Given the description of an element on the screen output the (x, y) to click on. 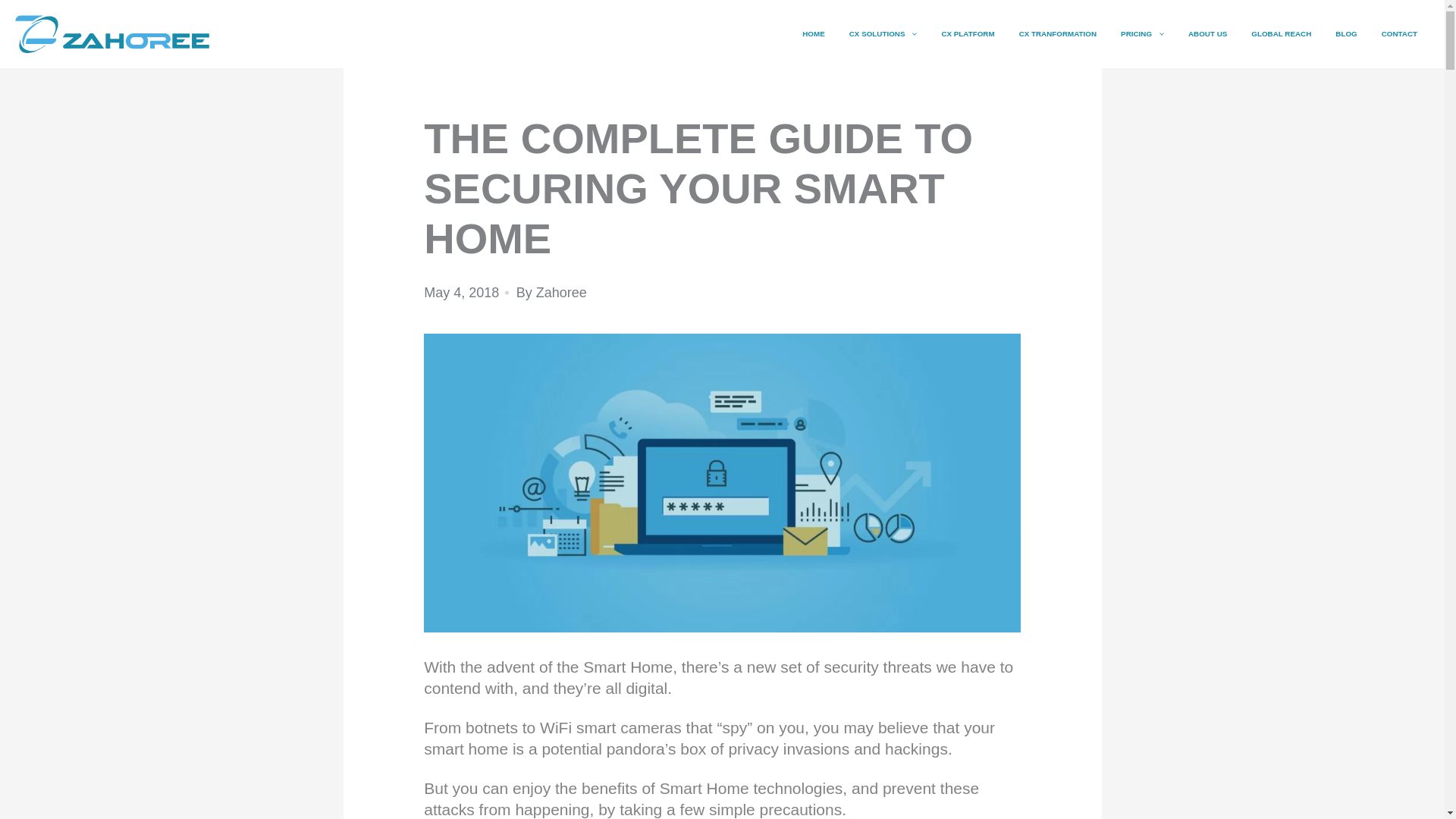
Zahoree (560, 292)
PRICING (1142, 33)
HOME (813, 33)
BLOG (1345, 33)
View all posts by Jose A. Gonzalez (560, 292)
CONTACT (1399, 33)
GLOBAL REACH (1281, 33)
CX SOLUTIONS (883, 33)
ABOUT US (1207, 33)
CX TRANFORMATION (1057, 33)
CX PLATFORM (967, 33)
